Given the description of an element on the screen output the (x, y) to click on. 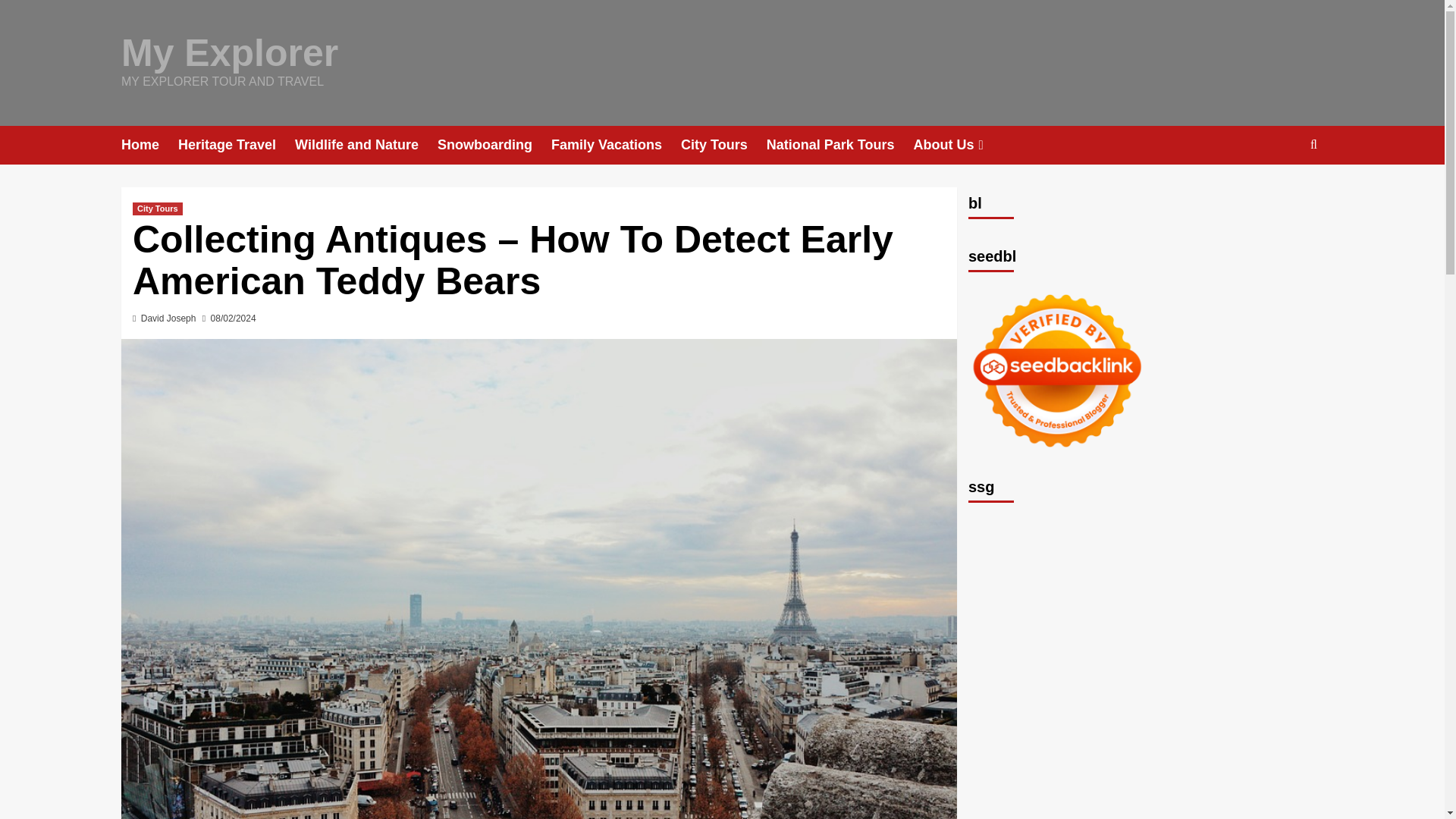
My Explorer (228, 52)
City Tours (157, 208)
Family Vacations (616, 145)
City Tours (724, 145)
Search (1278, 191)
National Park Tours (840, 145)
David Joseph (168, 317)
Wildlife and Nature (366, 145)
Snowboarding (494, 145)
About Us (959, 145)
Home (148, 145)
Heritage Travel (236, 145)
Seedbacklink (1056, 370)
